Given the description of an element on the screen output the (x, y) to click on. 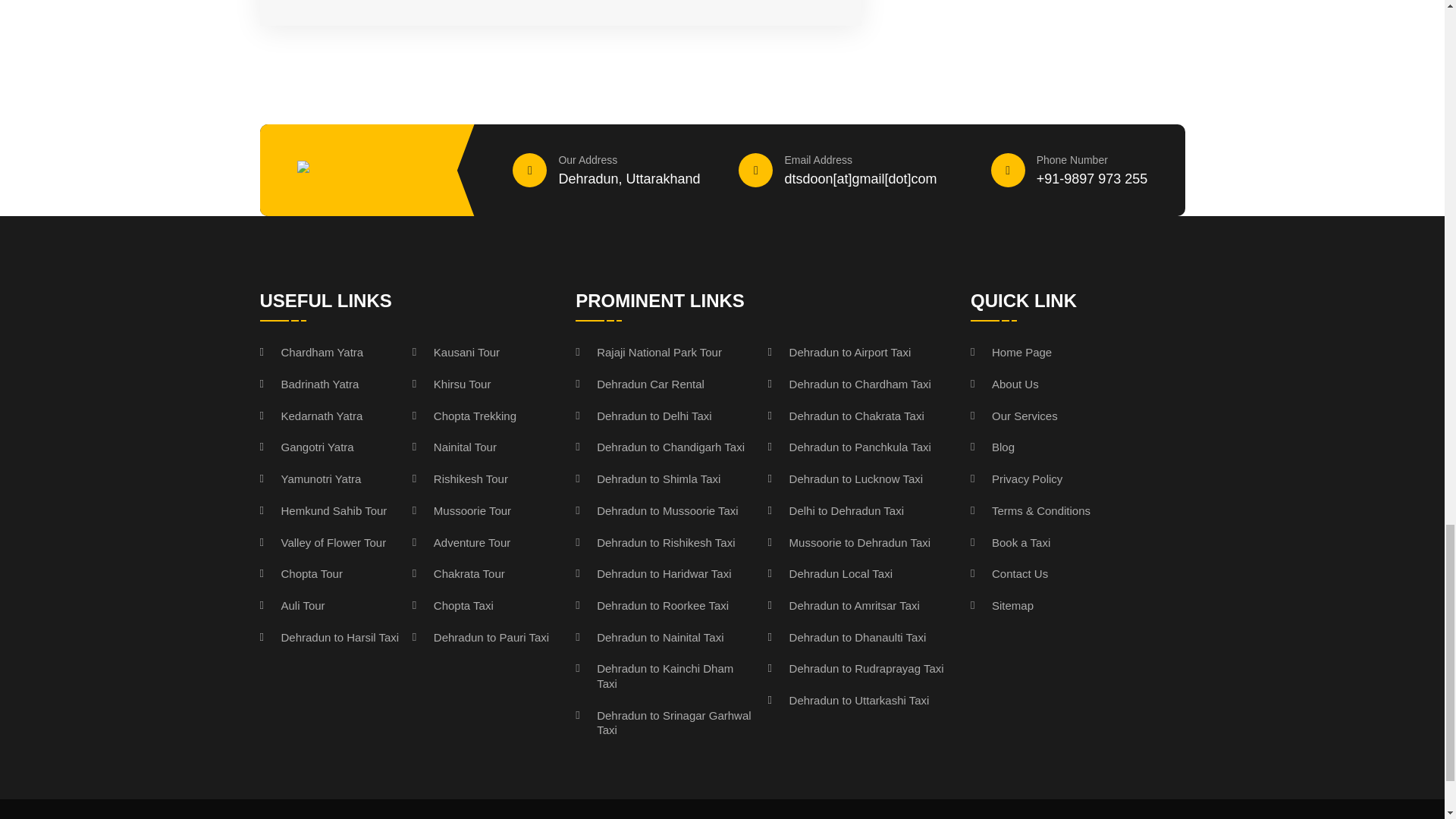
Badrinath Yatra (308, 384)
Hemkund Sahib Tour (323, 510)
Dehradun Taxi Services Logo (367, 170)
Gangotri Yatra (306, 447)
Chardham Yatra (310, 352)
Yamunotri Yatra (310, 478)
Kedarnath Yatra (310, 416)
